Given the description of an element on the screen output the (x, y) to click on. 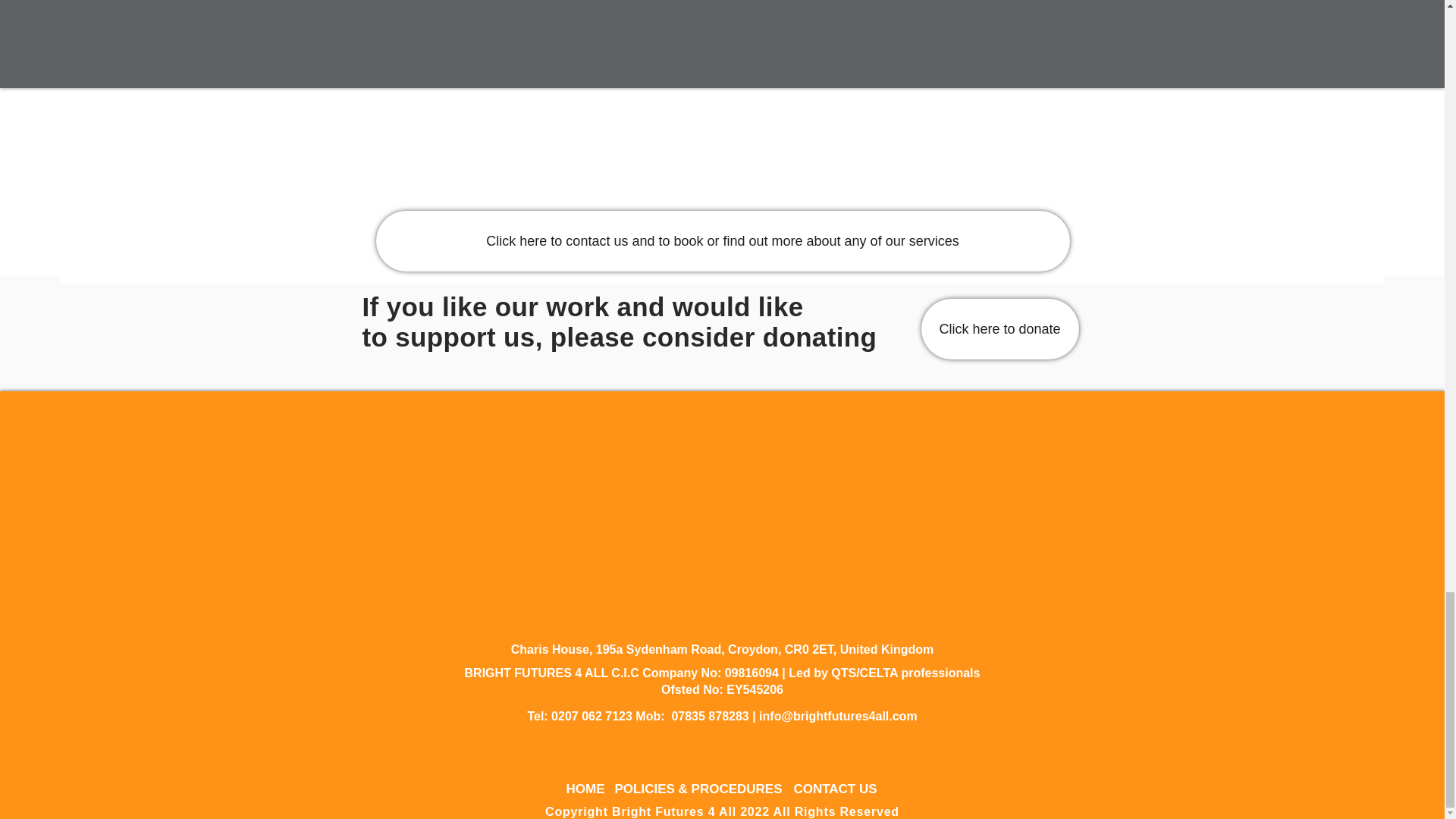
Click here to donate (999, 328)
CONTACT US (834, 788)
HOME (584, 788)
